Given the description of an element on the screen output the (x, y) to click on. 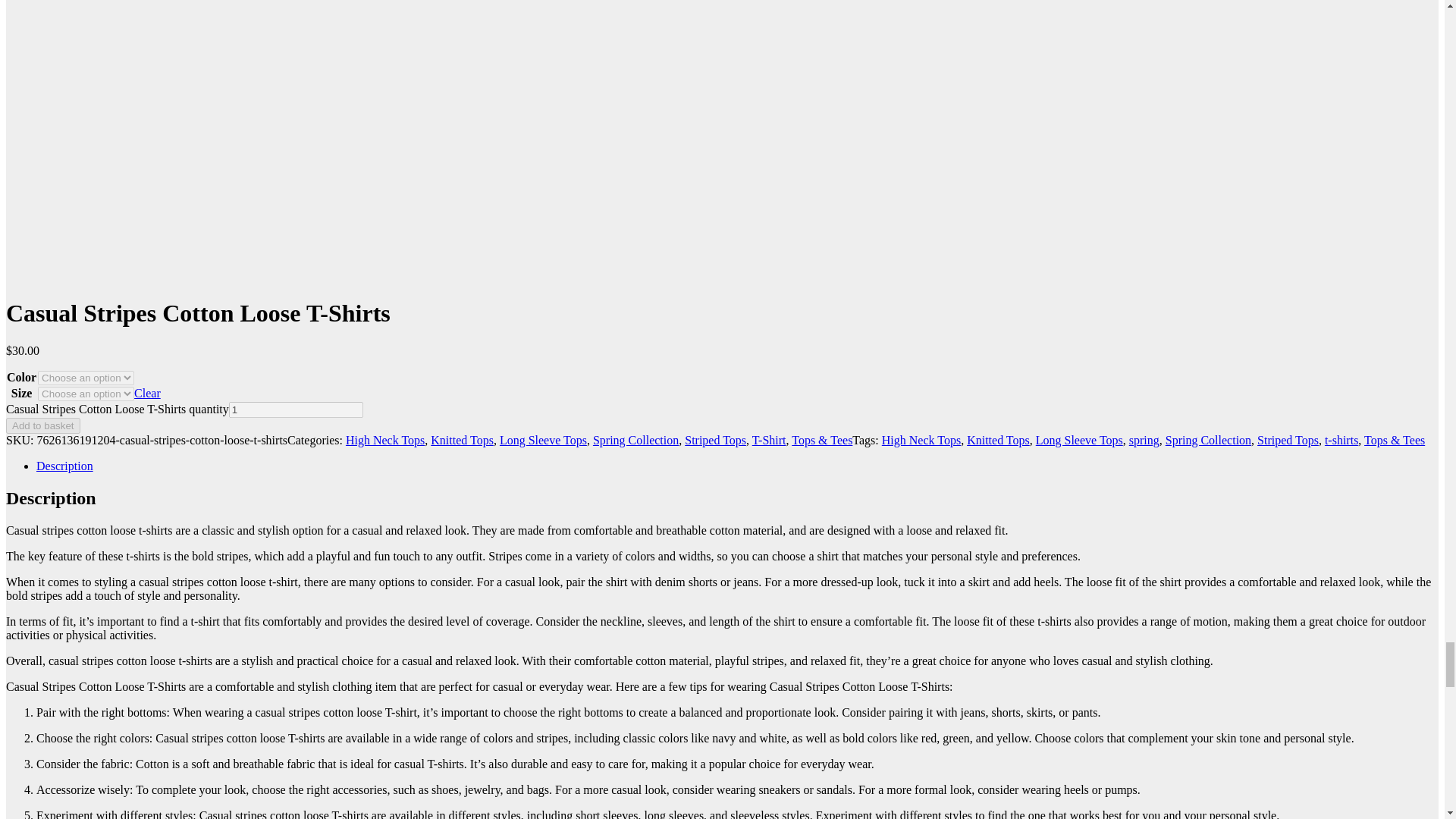
Clear (146, 392)
High Neck Tops (385, 440)
Add to basket (42, 425)
Long Sleeve Tops (542, 440)
Knitted Tops (461, 440)
1 (295, 409)
